Given the description of an element on the screen output the (x, y) to click on. 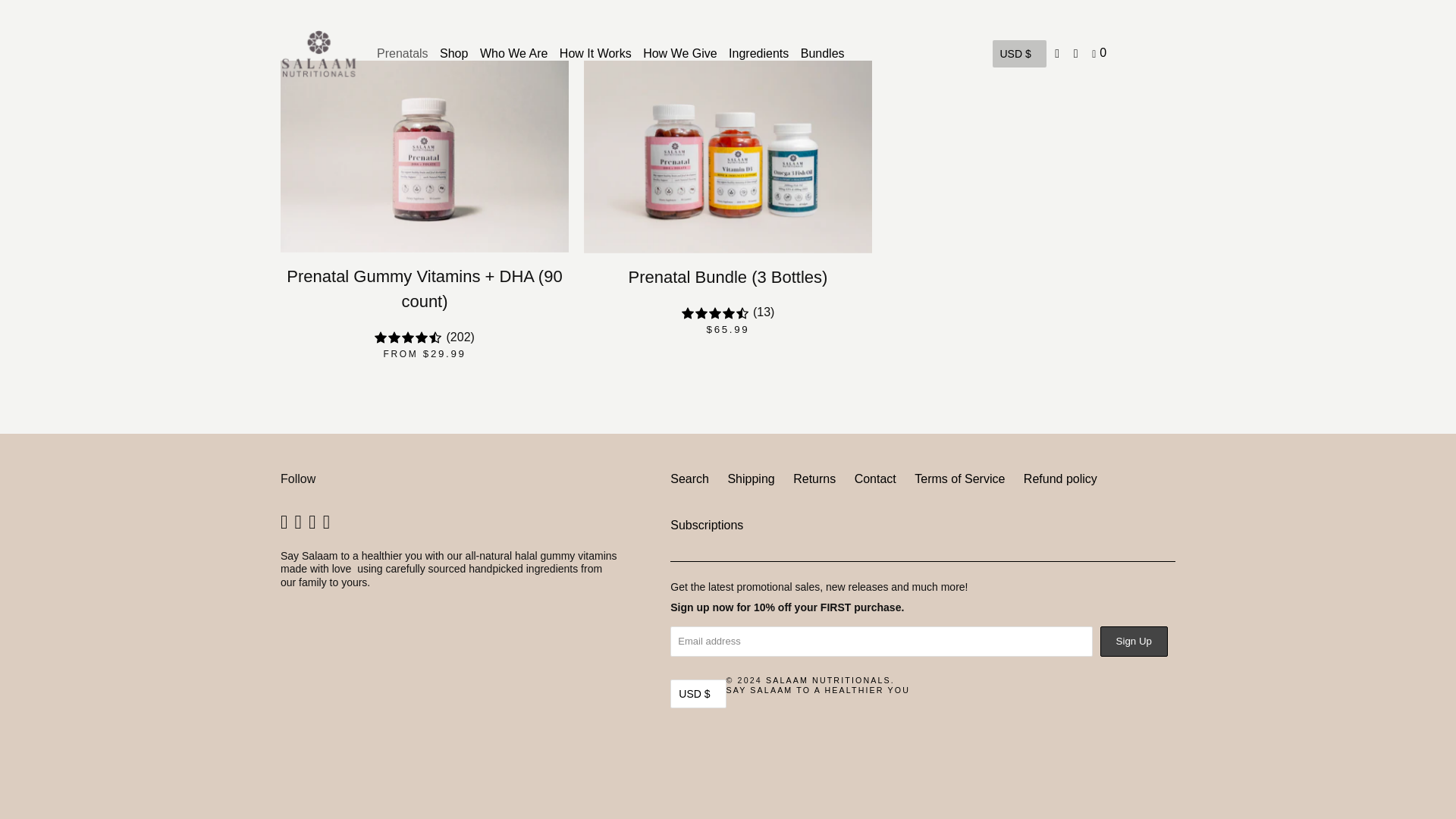
How We Give (680, 53)
Bundles (822, 53)
Salaam Nutritionals (318, 53)
Who We Are (514, 53)
How It Works (595, 53)
Sign Up (1133, 641)
Shop (453, 53)
Ingredients (758, 53)
Prenatals (402, 53)
